Given the description of an element on the screen output the (x, y) to click on. 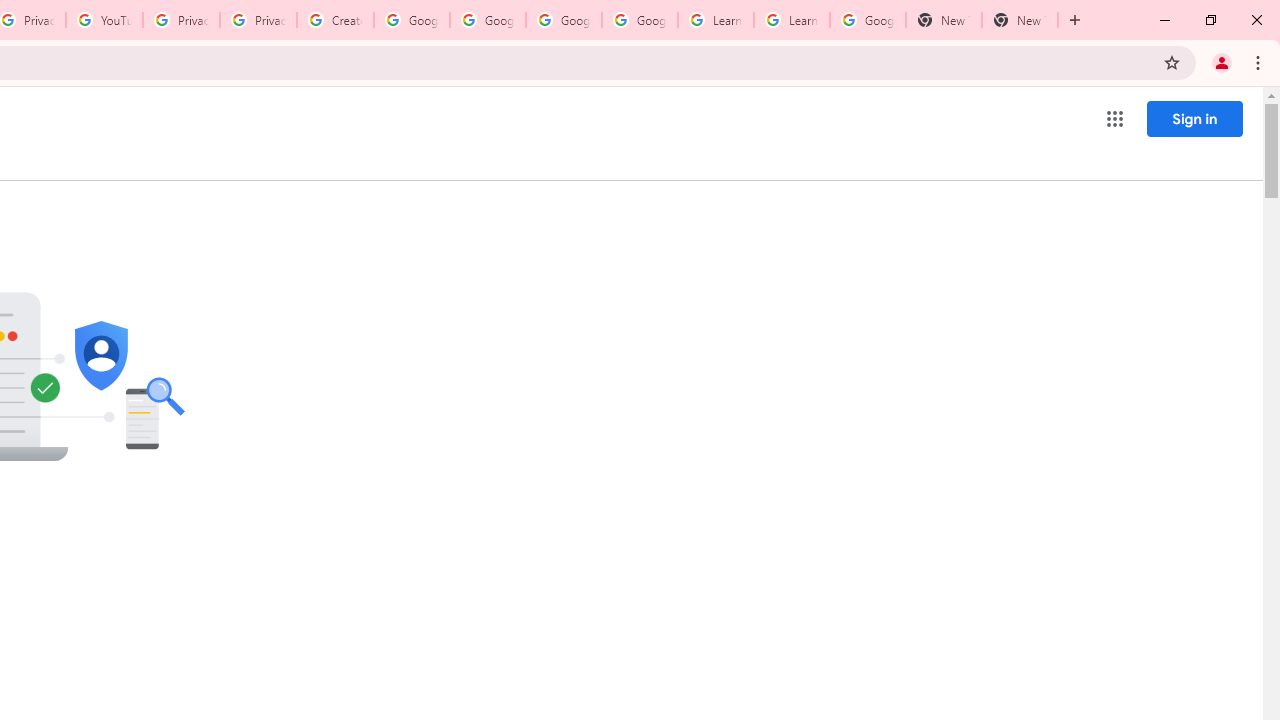
Google Account Help (411, 20)
Google Account Help (488, 20)
New Tab (943, 20)
YouTube (104, 20)
Google Account Help (563, 20)
